Given the description of an element on the screen output the (x, y) to click on. 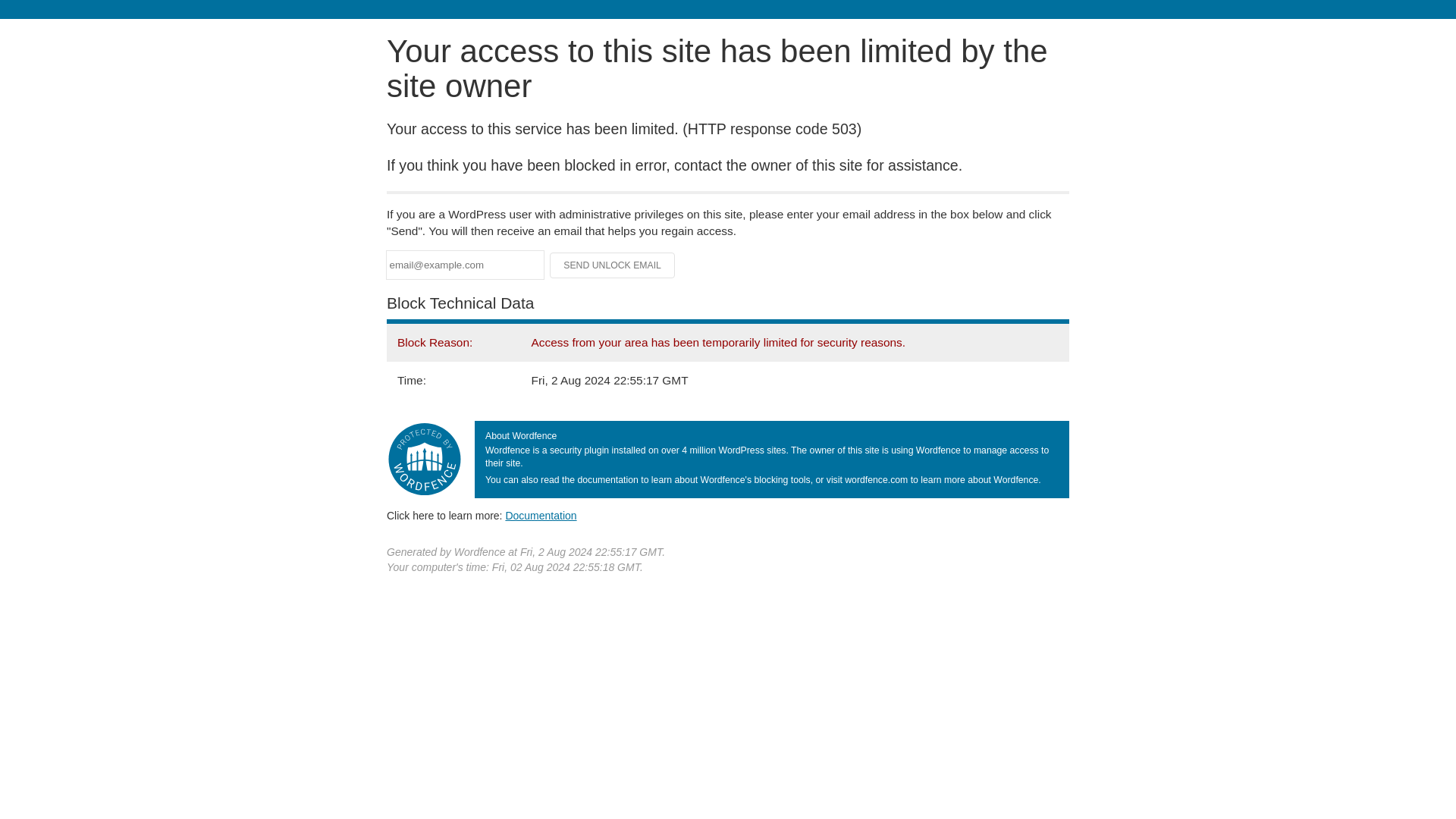
Send Unlock Email (612, 265)
Send Unlock Email (612, 265)
Documentation (540, 515)
